Given the description of an element on the screen output the (x, y) to click on. 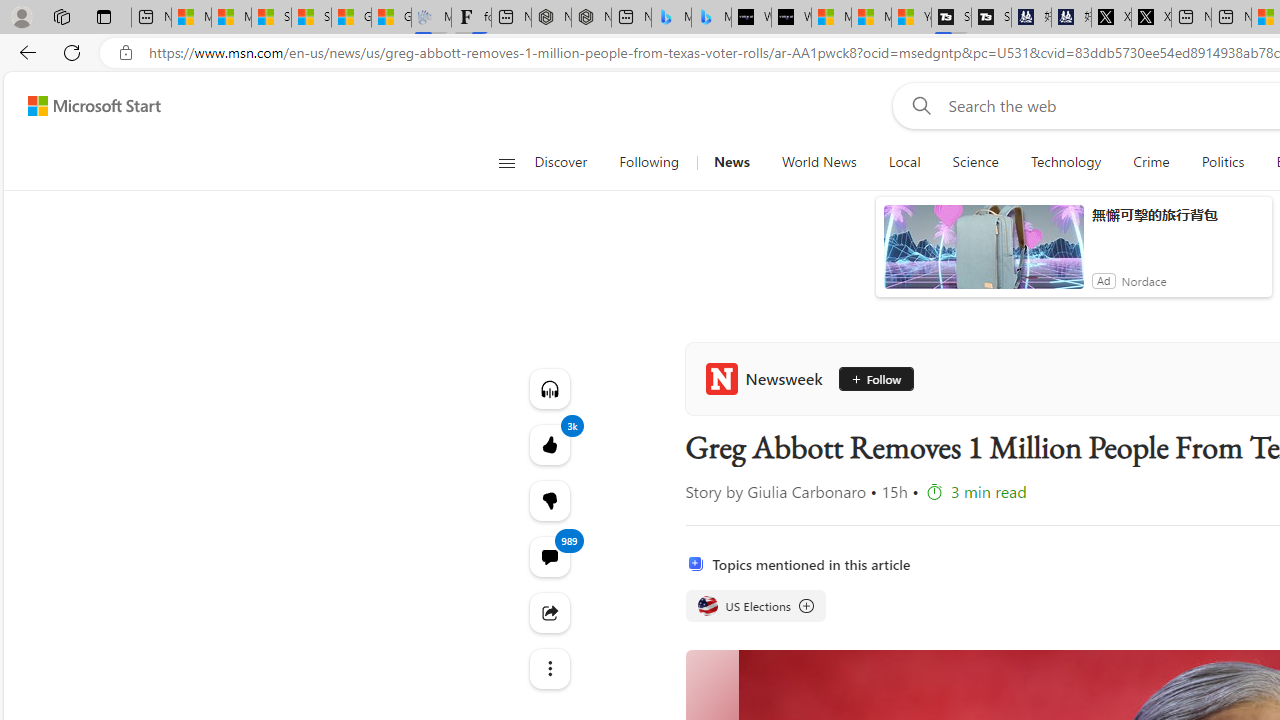
Politics (1222, 162)
Science (975, 162)
3k Like (548, 444)
Crime (1150, 162)
US Elections US Elections US Elections (754, 605)
World News (818, 162)
Listen to this article (548, 388)
